Given the description of an element on the screen output the (x, y) to click on. 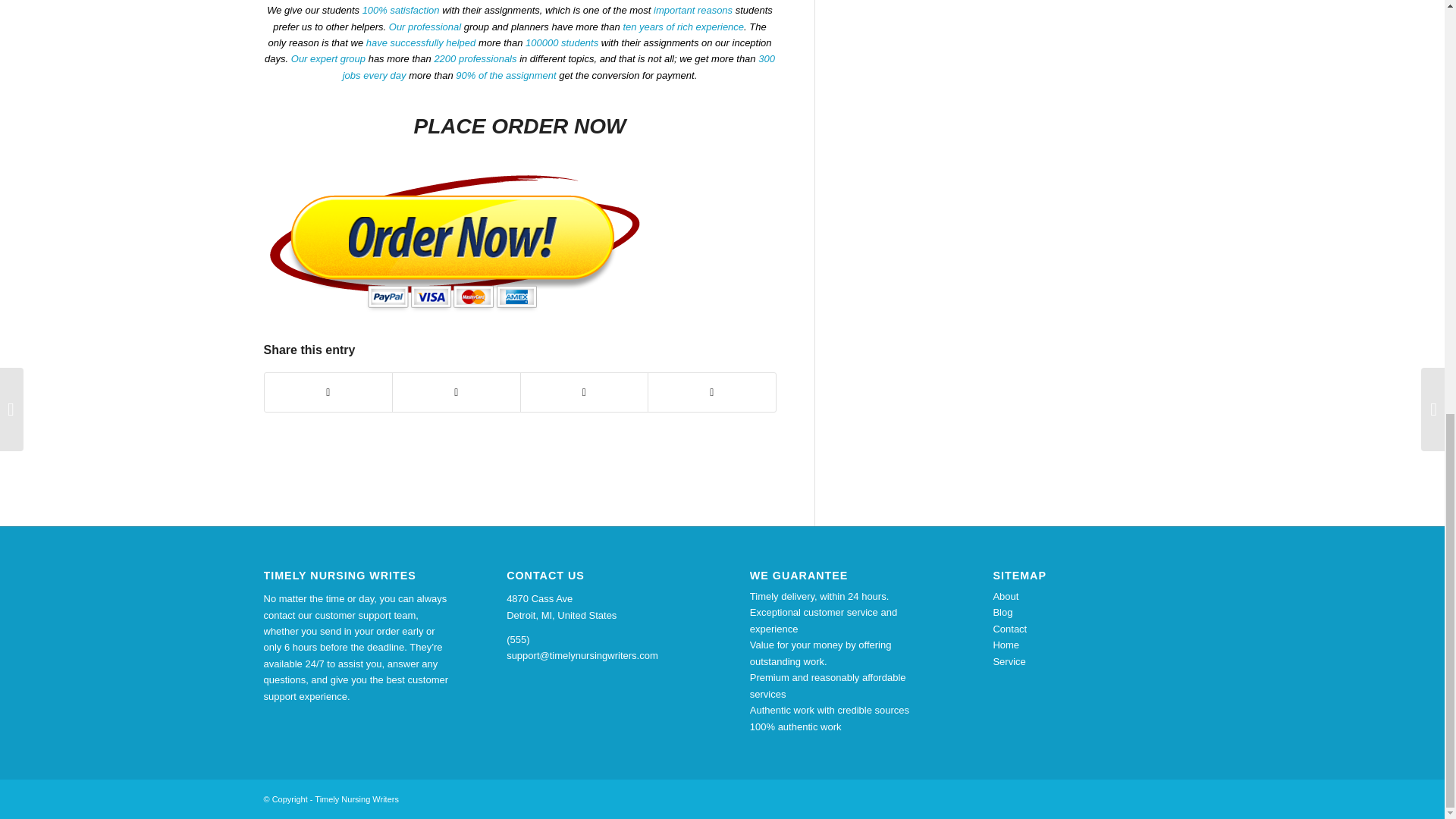
2200 professionals (474, 58)
PLACE ORDER NOW (519, 126)
Our expert group (328, 58)
important reasons (692, 9)
Our professional (424, 26)
have successfully helped (421, 42)
300 jobs every day (558, 66)
100000 students (561, 42)
ten years of rich experience (683, 26)
